Given the description of an element on the screen output the (x, y) to click on. 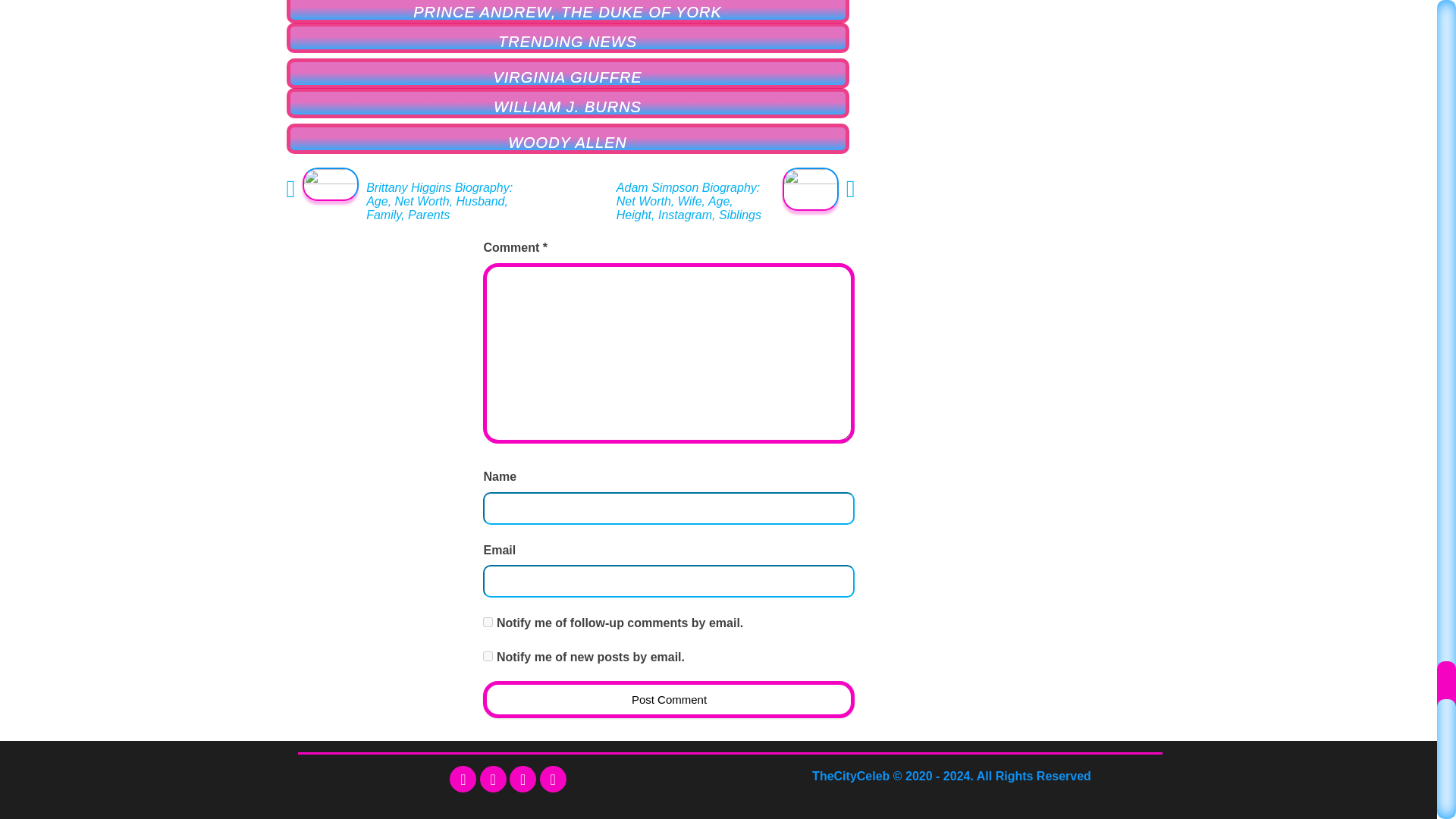
Post Comment (668, 699)
subscribe (488, 655)
subscribe (488, 622)
